Given the description of an element on the screen output the (x, y) to click on. 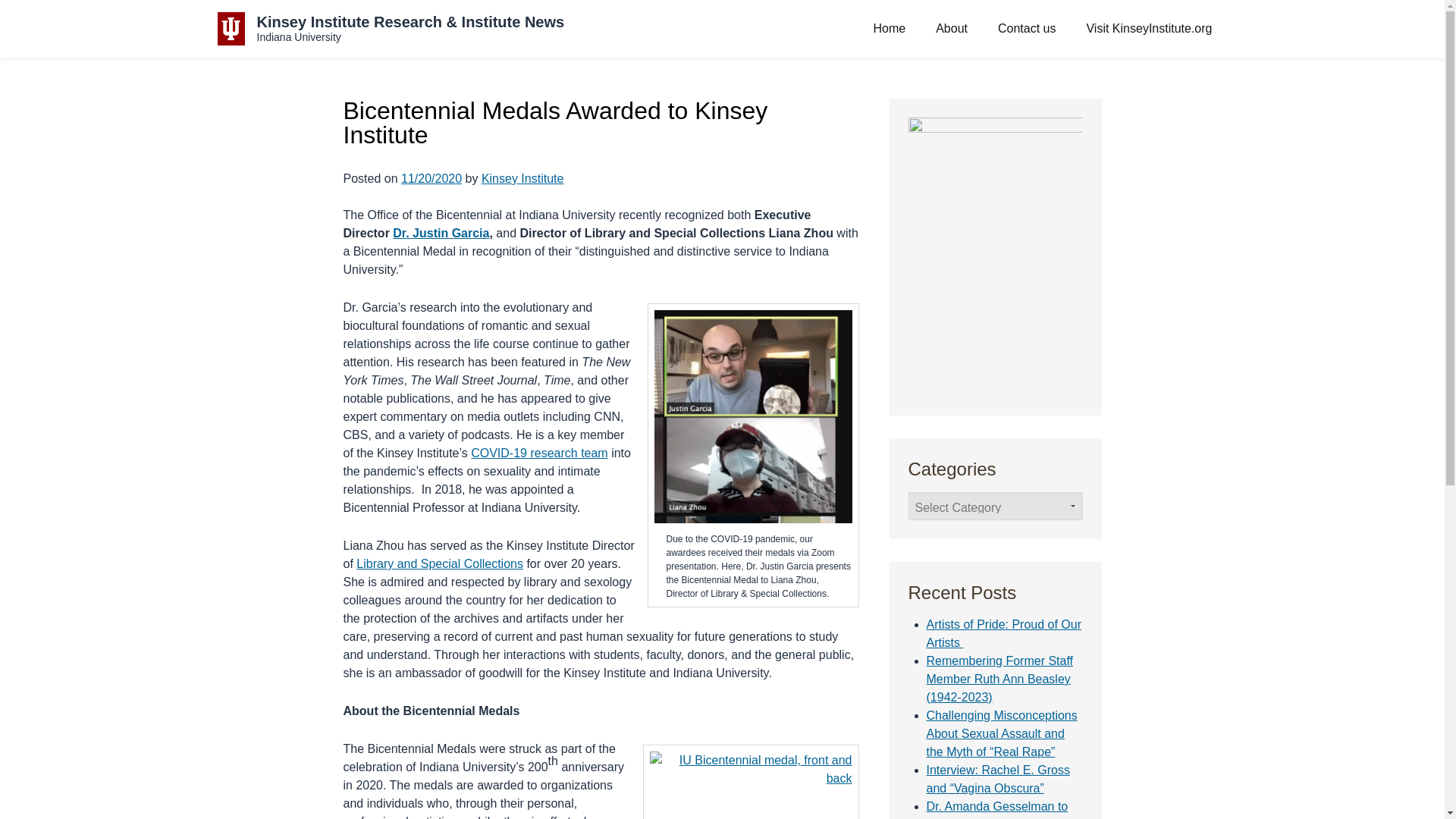
Contact us (1026, 28)
Dr. Justin Garcia (441, 232)
About (951, 28)
Artists of Pride: Proud of Our Artists  (1003, 633)
Kinsey Institute (522, 178)
COVID-19 research team (539, 452)
Home (890, 28)
Visit KinseyInstitute.org (1149, 28)
Library and Special Collections (439, 563)
